Given the description of an element on the screen output the (x, y) to click on. 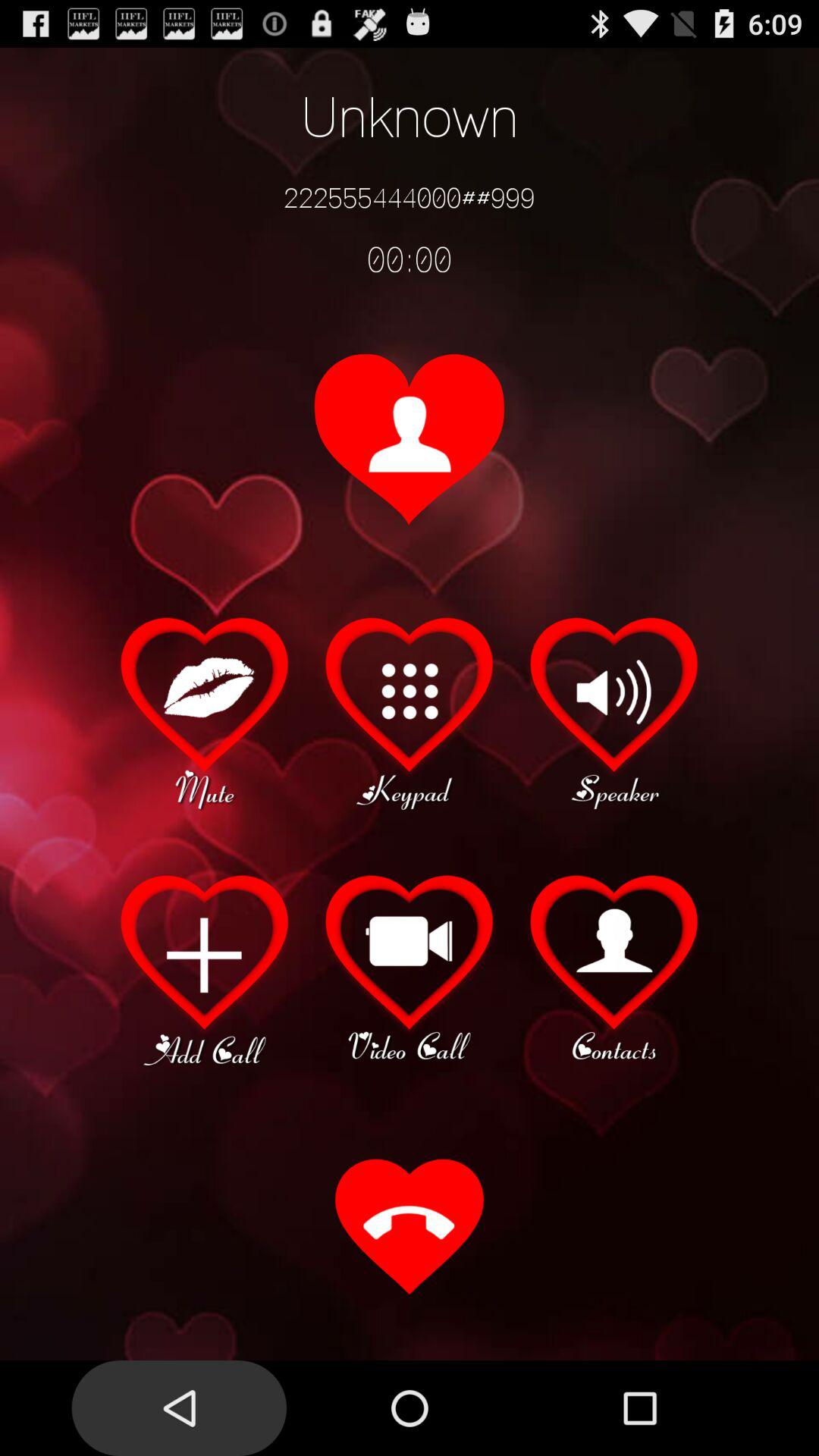
dial call (409, 1228)
